Given the description of an element on the screen output the (x, y) to click on. 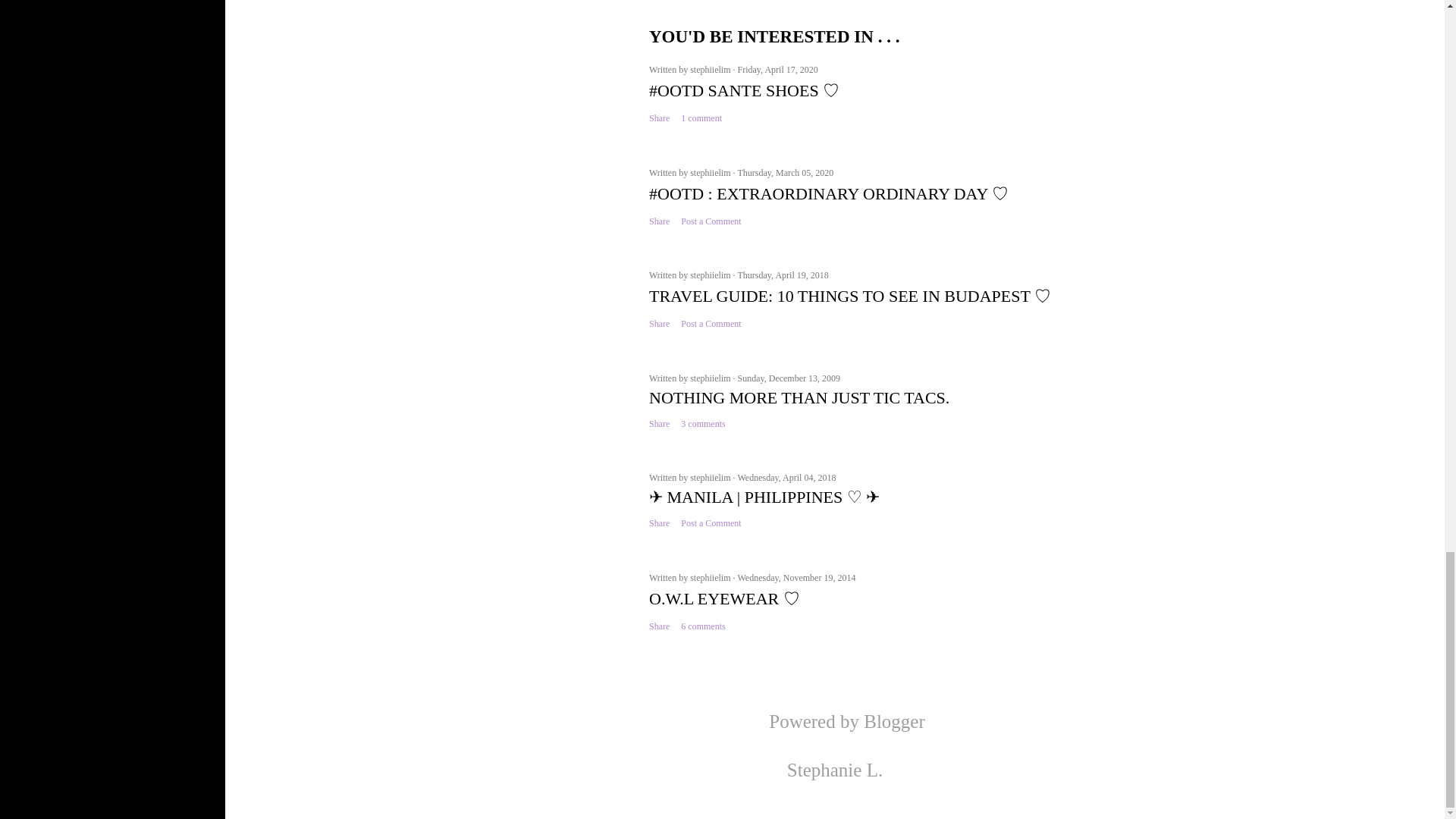
Friday, April 17, 2020 (776, 69)
Share (659, 118)
stephiielim (711, 69)
